Given the description of an element on the screen output the (x, y) to click on. 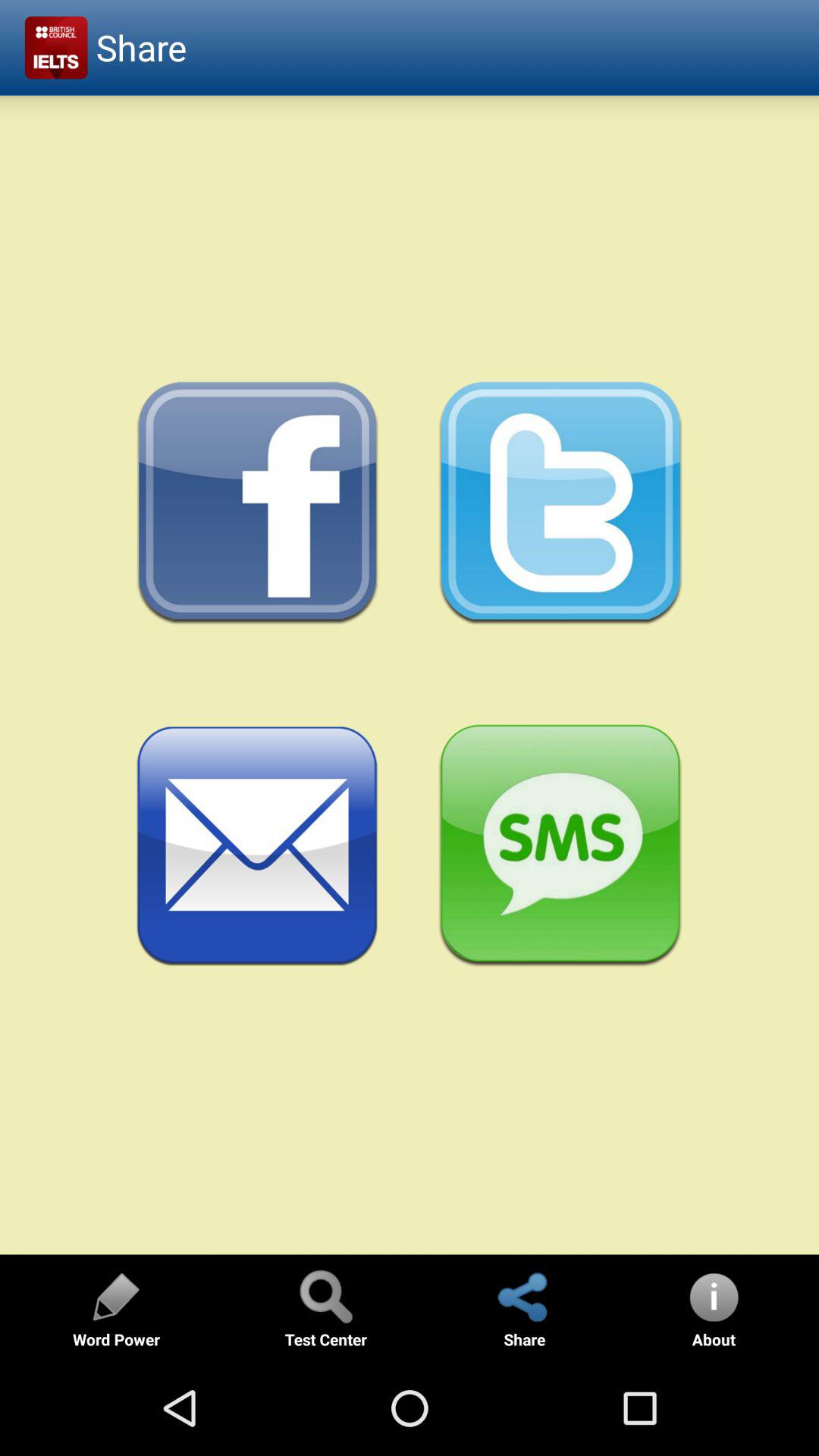
navigate to facebook (257, 503)
